Given the description of an element on the screen output the (x, y) to click on. 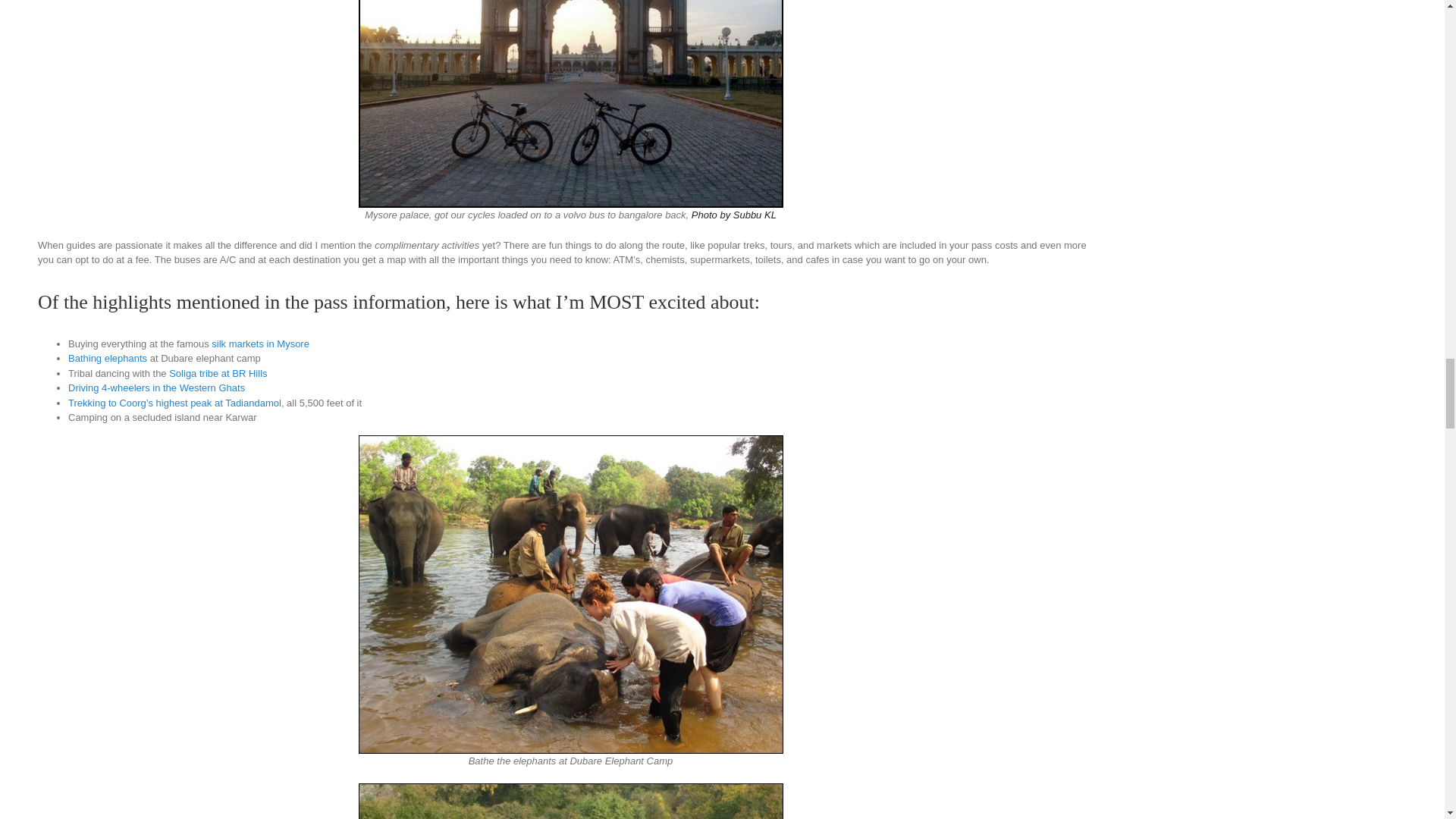
Your Mysore Shopping Guide (259, 343)
Discovering the Soliga Tribe of BR Hills (217, 373)
